Given the description of an element on the screen output the (x, y) to click on. 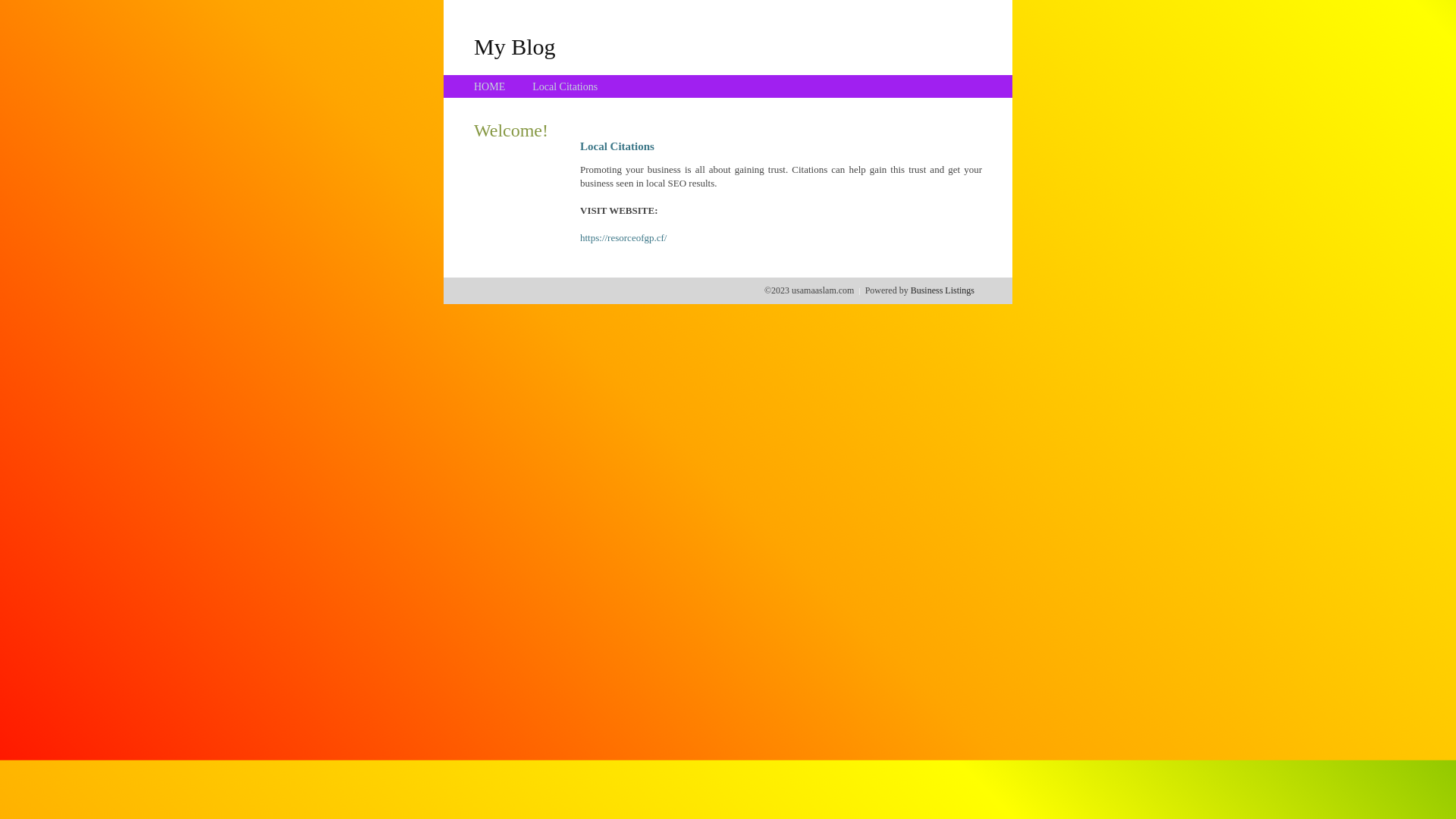
https://resorceofgp.cf/ Element type: text (623, 237)
My Blog Element type: text (514, 46)
Business Listings Element type: text (942, 290)
HOME Element type: text (489, 86)
Local Citations Element type: text (564, 86)
